Given the description of an element on the screen output the (x, y) to click on. 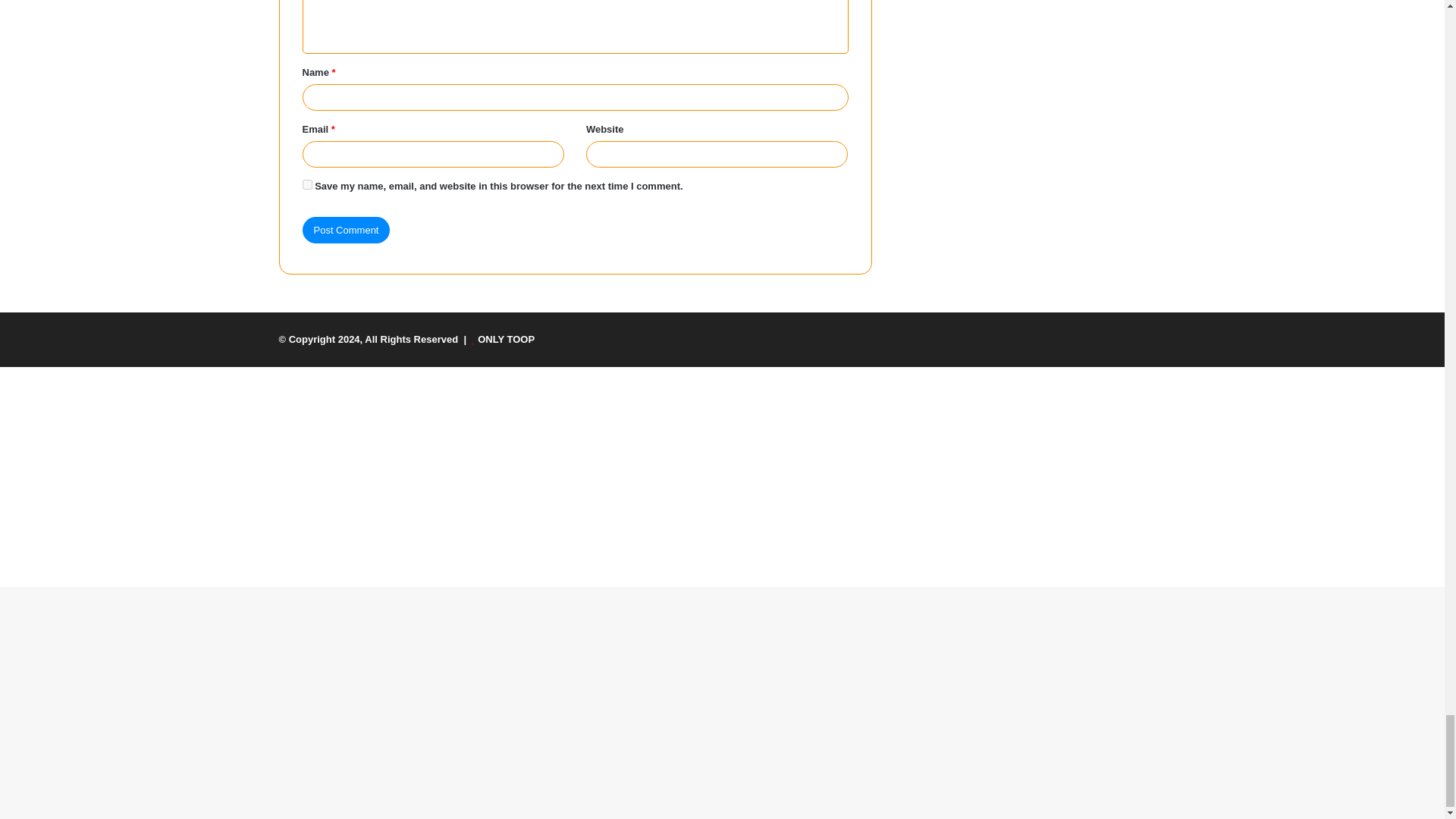
Post Comment (345, 230)
yes (306, 184)
